Given the description of an element on the screen output the (x, y) to click on. 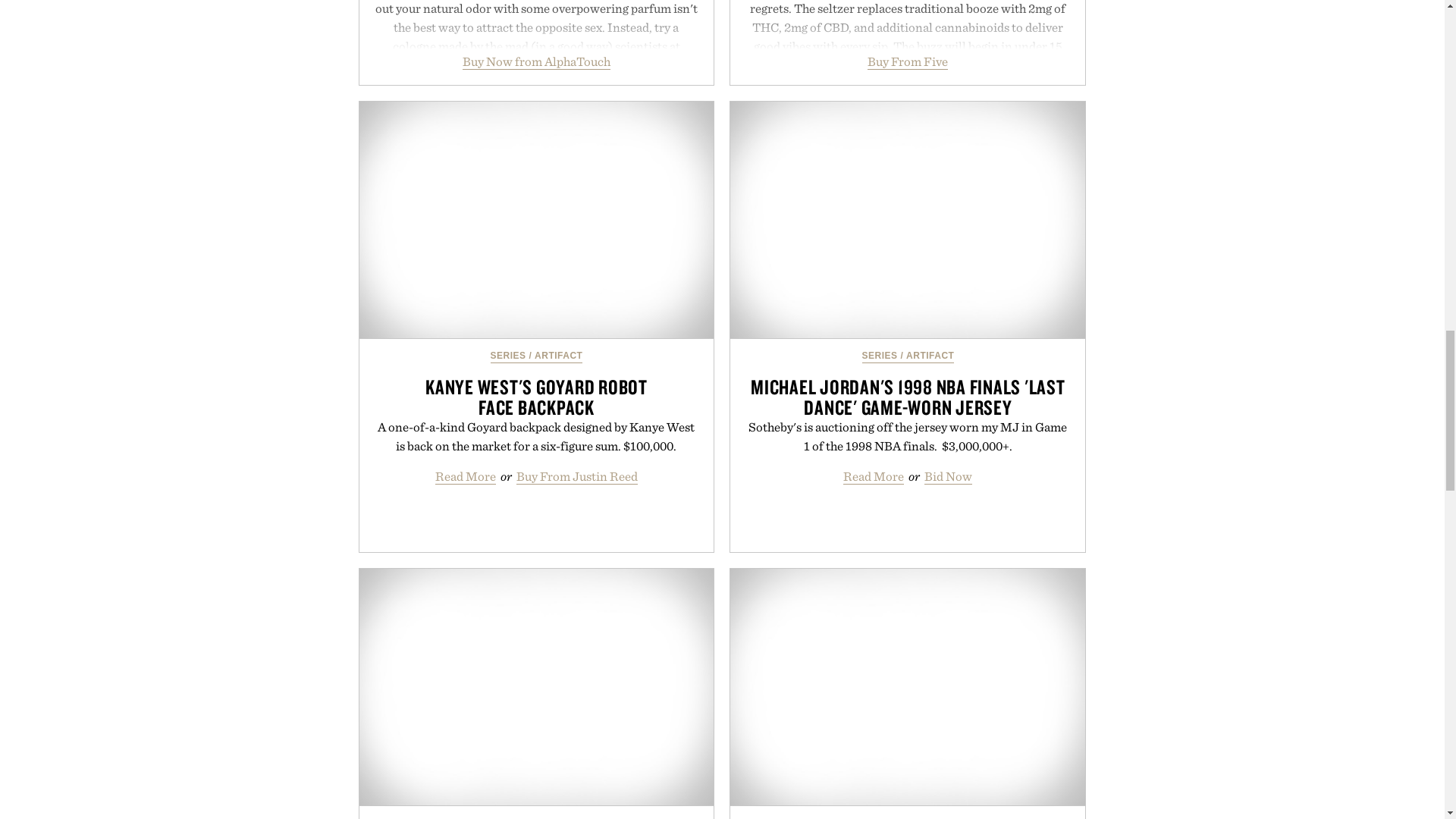
Trashie (536, 686)
Kanye West's Goyard Robot Face Backpack (536, 220)
Tailor Store Tailored Clothing (907, 686)
